Given the description of an element on the screen output the (x, y) to click on. 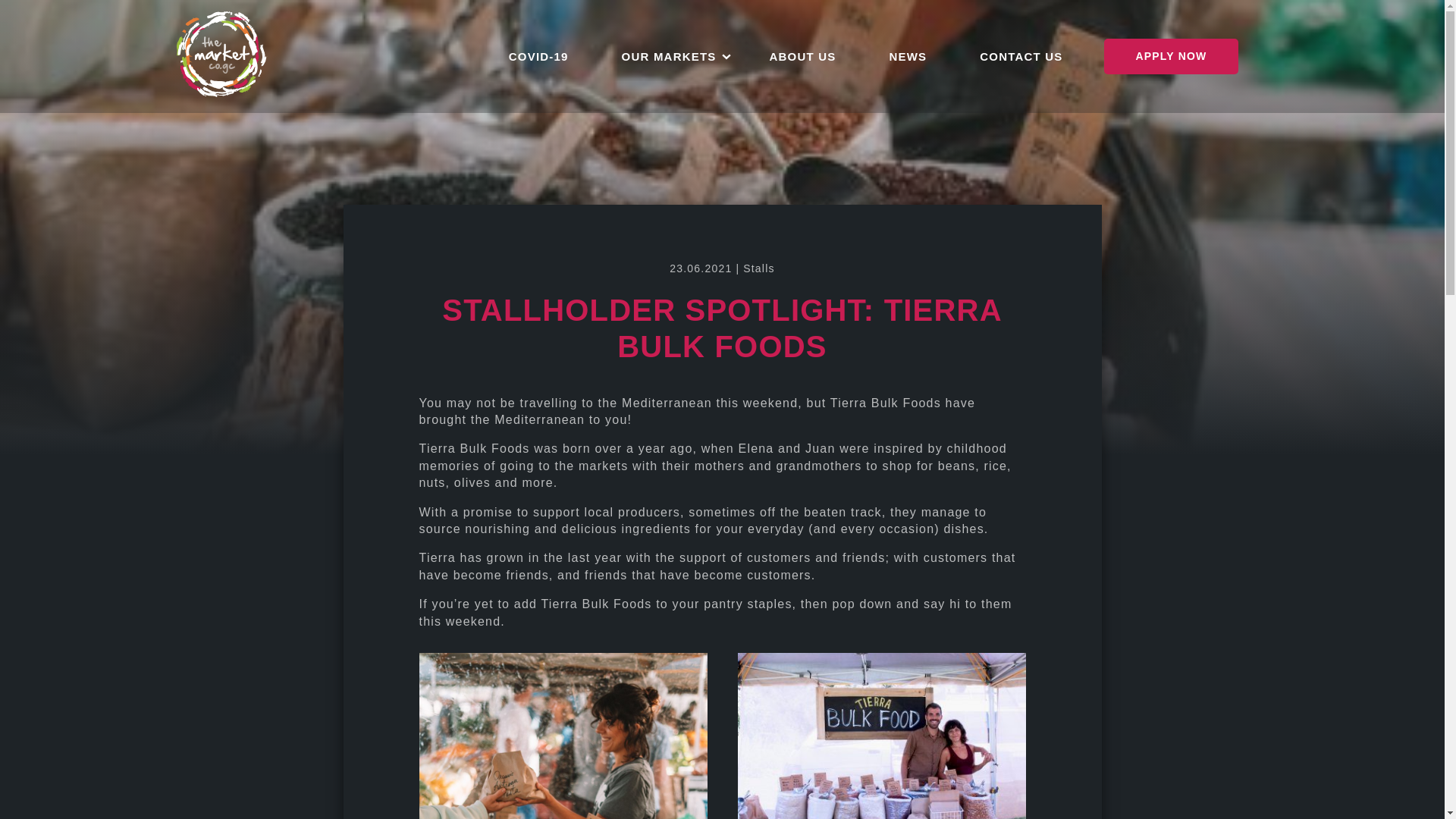
Tierra Bulk Foods (884, 402)
OUR MARKETS (668, 56)
Stalls (758, 268)
NEWS (907, 56)
APPLY NOW (1170, 56)
COVID-19 (538, 56)
ABOUT US (801, 56)
CONTACT US (1021, 56)
